Given the description of an element on the screen output the (x, y) to click on. 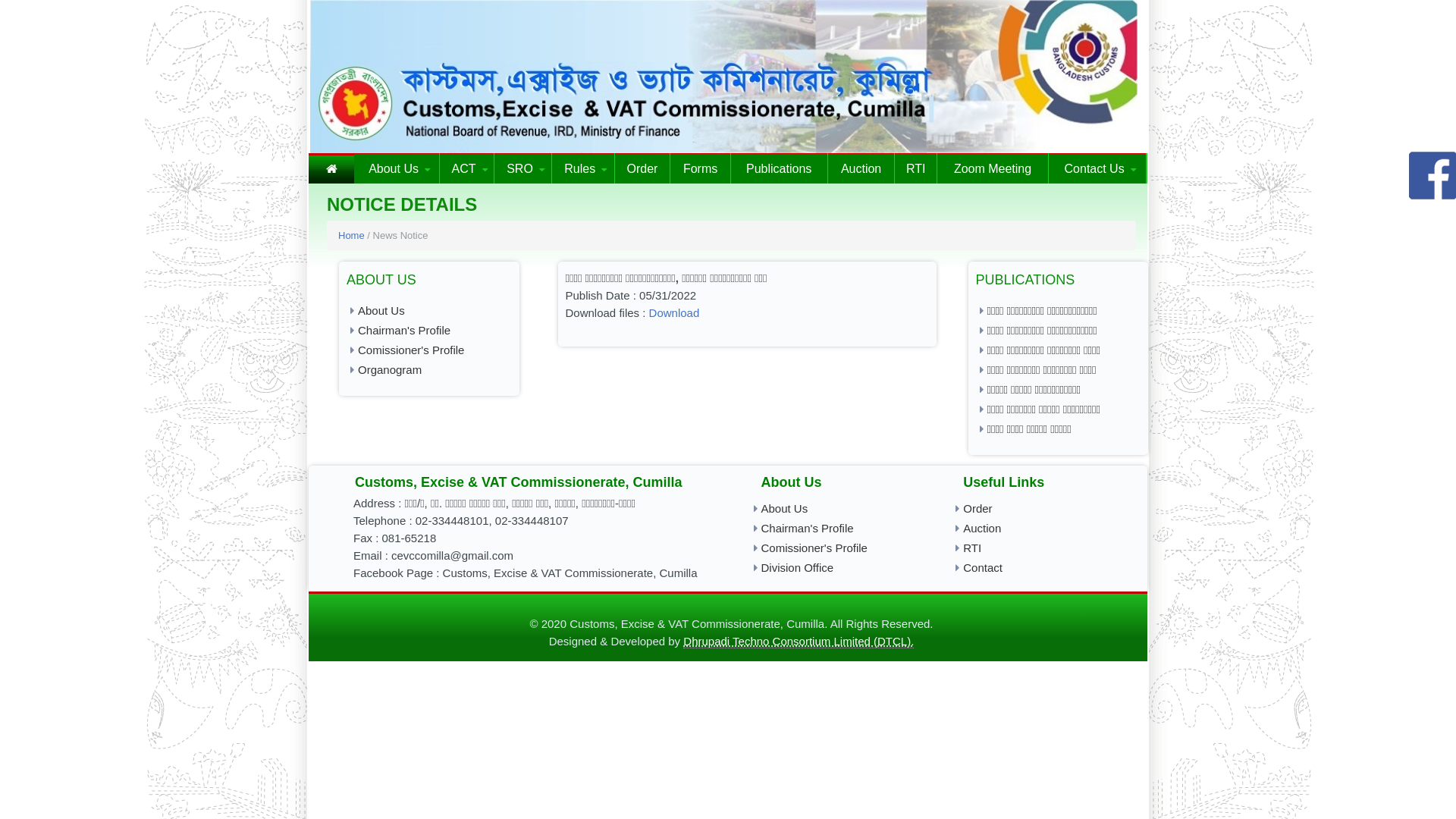
Zoom Meeting Element type: text (992, 168)
Auction Element type: text (1037, 526)
Chairman's Profile Element type: text (428, 328)
Comissioner's Profile Element type: text (836, 546)
Auction Element type: text (861, 168)
Dhrupadi Techno Consortium Limited (DTCL). Element type: text (798, 641)
About Us Element type: text (428, 310)
Contact Element type: text (1037, 566)
RTI Element type: text (914, 168)
RTI Element type: text (1037, 546)
Order Element type: text (1037, 508)
Chairman's Profile Element type: text (836, 526)
Publications Element type: text (779, 168)
Download Element type: text (674, 312)
Order Element type: text (642, 168)
About Us Element type: text (836, 508)
Comissioner's Profile Element type: text (428, 348)
Forms Element type: text (699, 168)
Division Office Element type: text (836, 566)
Organogram Element type: text (428, 368)
Home Element type: text (351, 235)
